Given the description of an element on the screen output the (x, y) to click on. 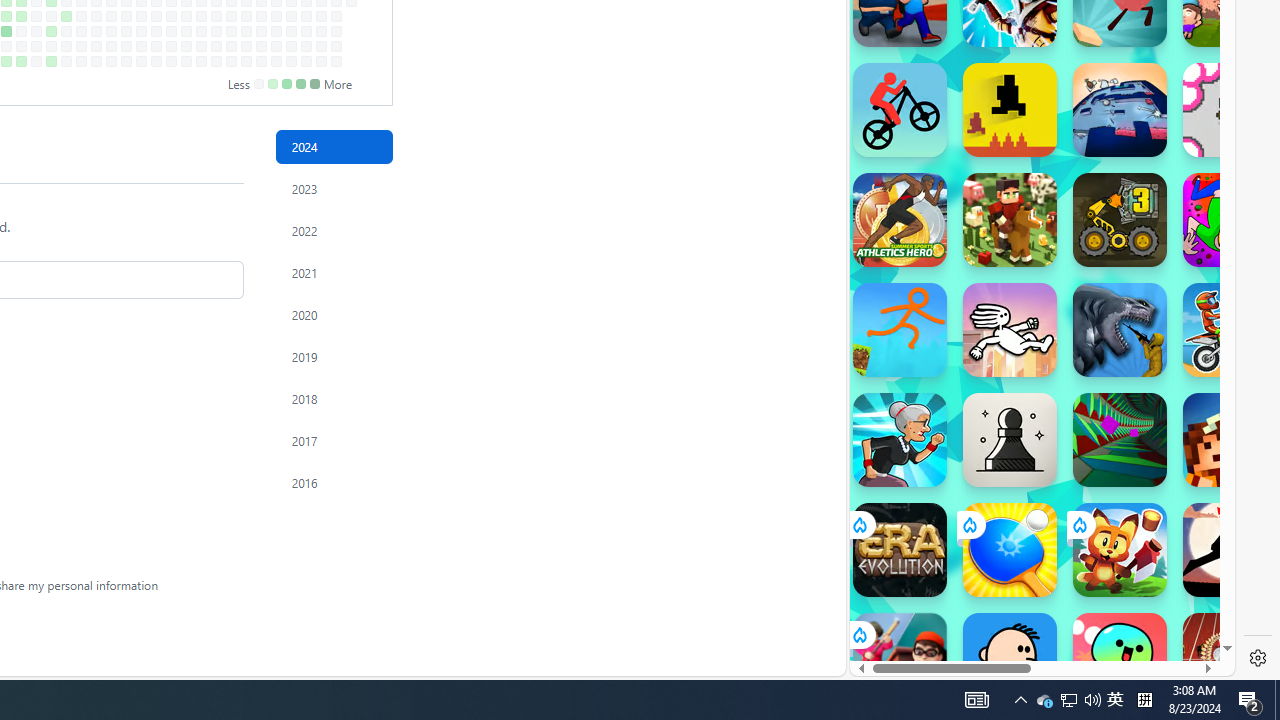
Lurkers.io (1229, 439)
No contributions on October 3rd. (156, 30)
Contribution activity in 2016 (333, 482)
No contributions on September 12th. (111, 30)
Angry Gran Run Angry Gran Run (899, 439)
No contributions on November 20th. (261, 16)
Moto X3M Moto X3M (1229, 329)
2021 (333, 273)
Contribution activity in 2018 (333, 399)
No contributions on August 9th. (36, 46)
No contributions on August 24th. (66, 61)
No contributions on September 18th. (126, 16)
No contributions on December 7th. (290, 61)
No contributions on August 29th. (81, 30)
No contributions on October 31st. (216, 30)
